Given the description of an element on the screen output the (x, y) to click on. 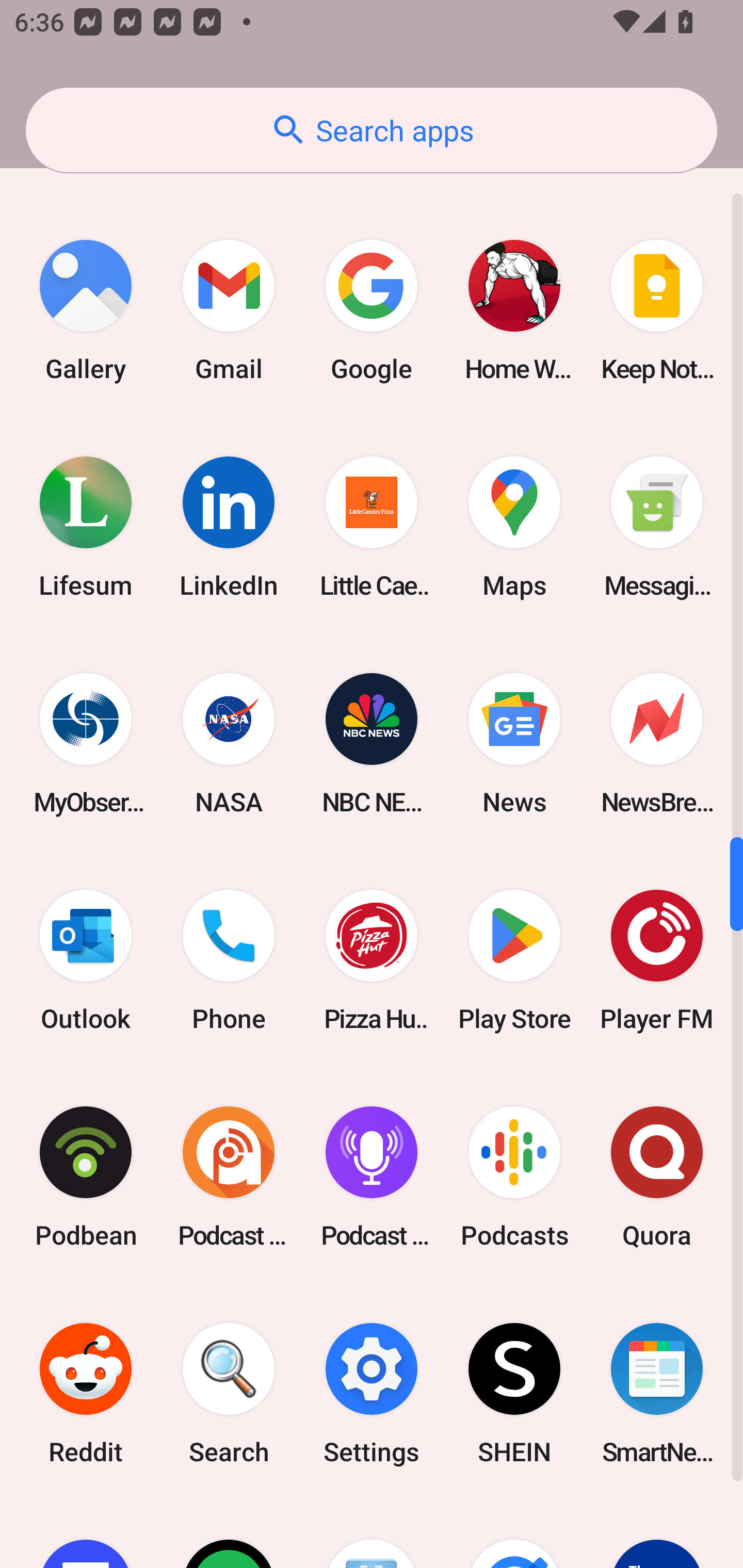
  Search apps (371, 130)
Gallery (85, 310)
Gmail (228, 310)
Google (371, 310)
Home Workout (514, 310)
Keep Notes (656, 310)
Lifesum (85, 526)
LinkedIn (228, 526)
Little Caesars Pizza (371, 526)
Maps (514, 526)
Messaging (656, 526)
MyObservatory (85, 743)
NASA (228, 743)
NBC NEWS (371, 743)
News (514, 743)
NewsBreak (656, 743)
Outlook (85, 960)
Phone (228, 960)
Pizza Hut HK & Macau (371, 960)
Play Store (514, 960)
Player FM (656, 960)
Podbean (85, 1177)
Podcast Addict (228, 1177)
Podcast Player (371, 1177)
Podcasts (514, 1177)
Quora (656, 1177)
Reddit (85, 1393)
Search (228, 1393)
Settings (371, 1393)
SHEIN (514, 1393)
SmartNews (656, 1393)
